Given the description of an element on the screen output the (x, y) to click on. 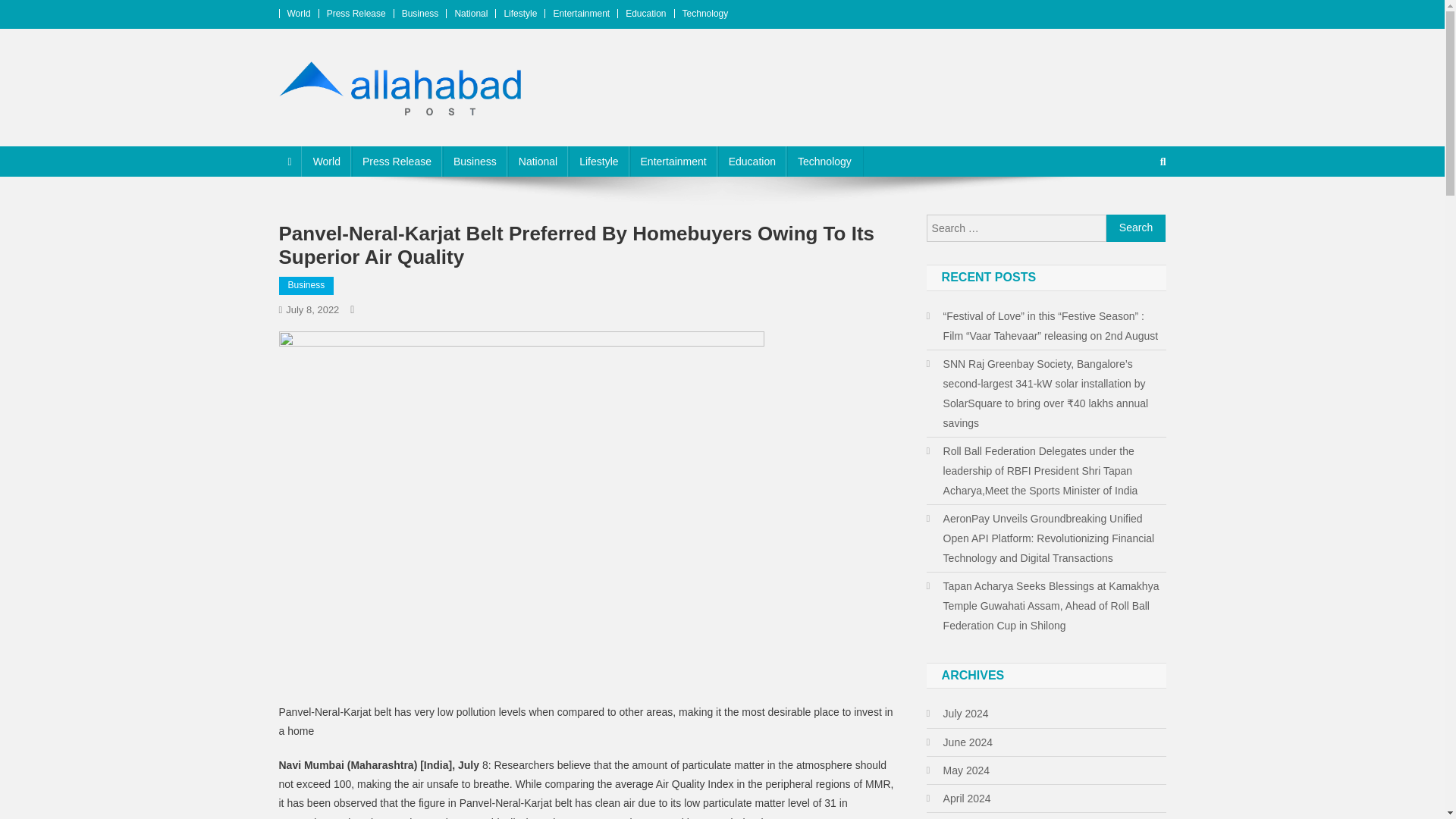
National (470, 13)
Business (474, 161)
World (326, 161)
July 8, 2022 (312, 309)
Education (645, 13)
Entertainment (581, 13)
Entertainment (673, 161)
Education (751, 161)
Allahabad Post (366, 130)
World (298, 13)
Search (1136, 227)
Business (306, 285)
Technology (824, 161)
Technology (705, 13)
Lifestyle (598, 161)
